Given the description of an element on the screen output the (x, y) to click on. 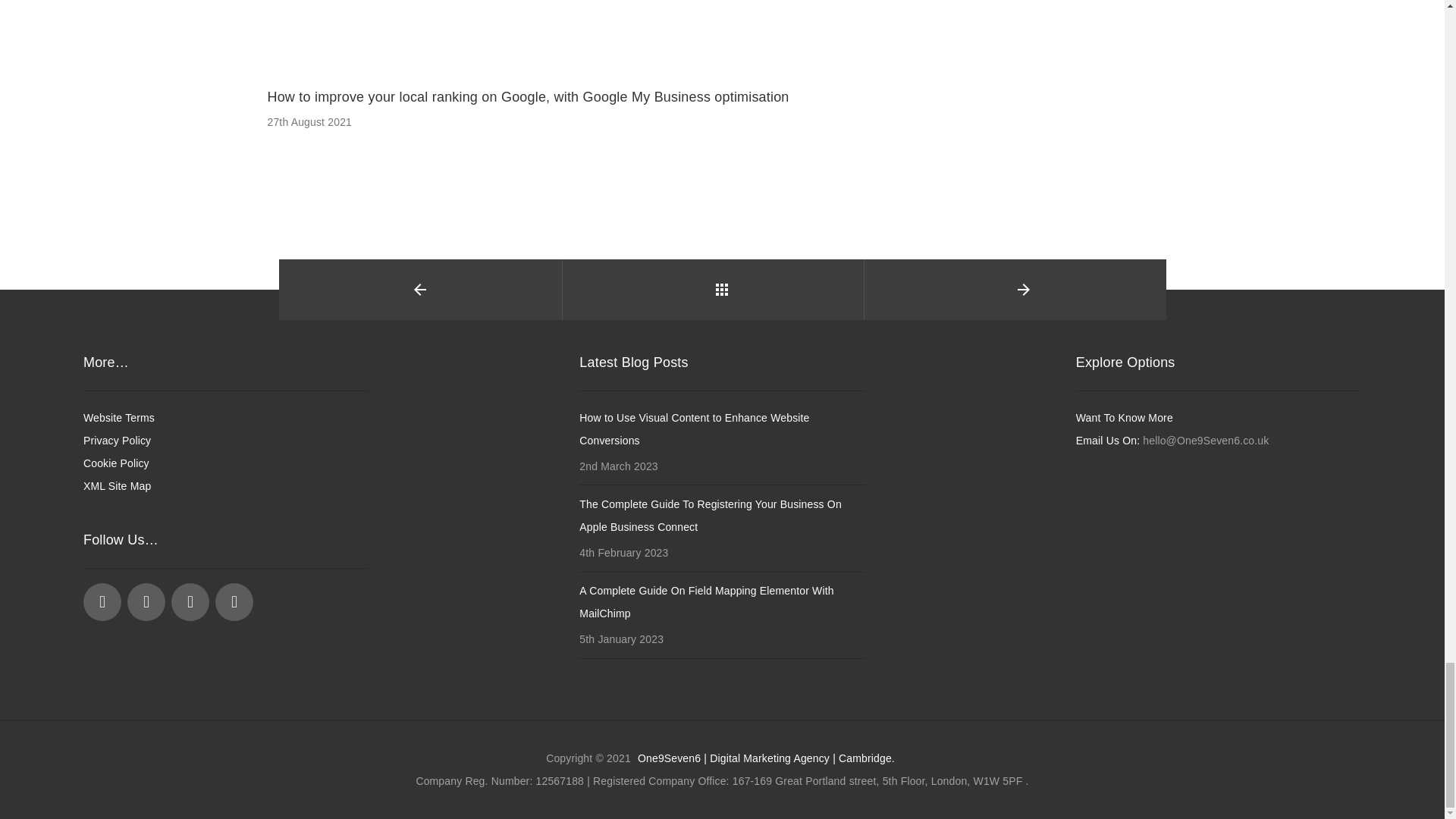
Instagram (190, 601)
Pinterest (234, 601)
Facebook (101, 601)
Linkedin (146, 601)
